Given the description of an element on the screen output the (x, y) to click on. 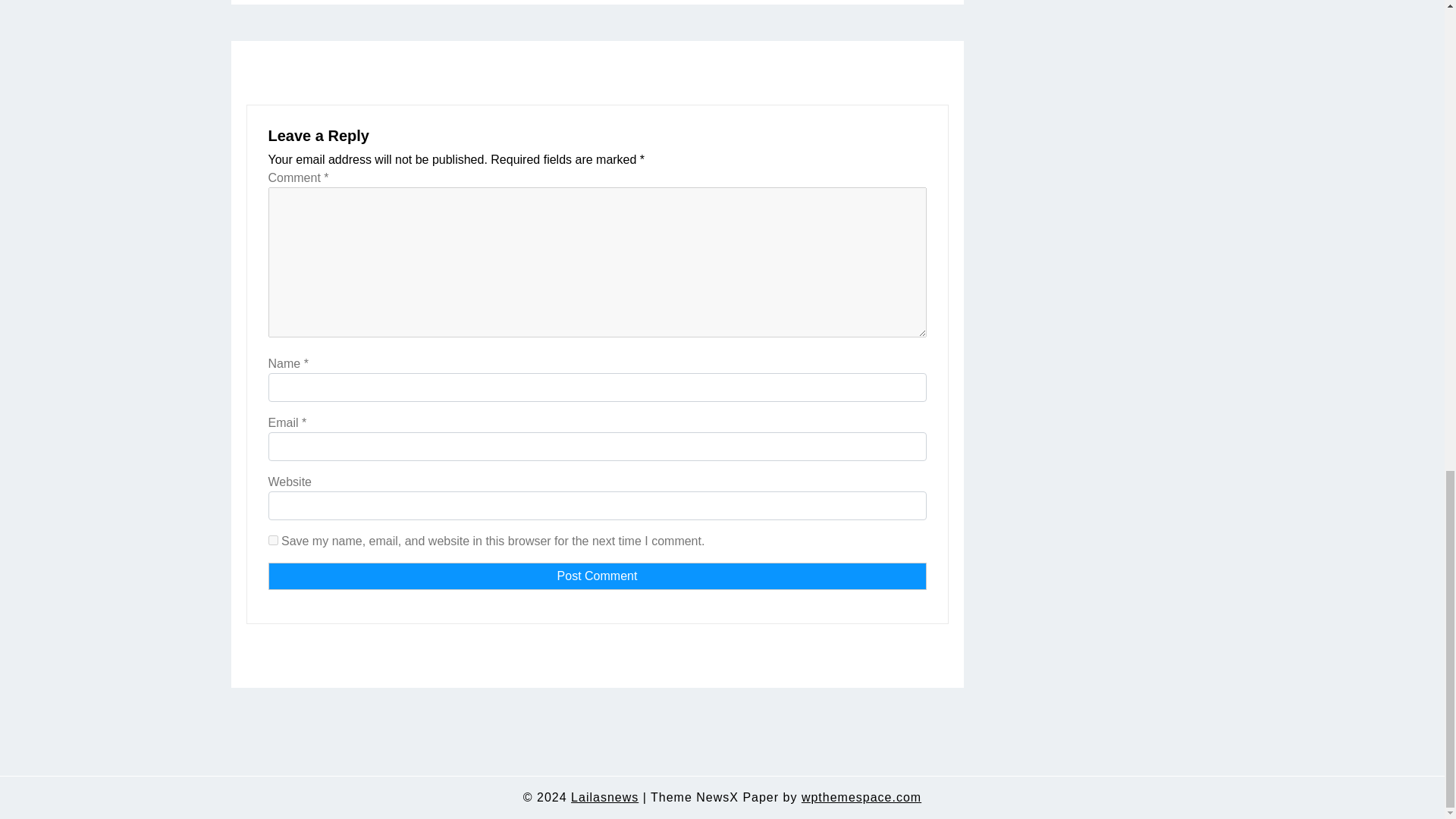
Post Comment (596, 575)
Lailasnews (604, 797)
Post Comment (596, 575)
yes (272, 540)
wpthemespace.com (861, 797)
